Given the description of an element on the screen output the (x, y) to click on. 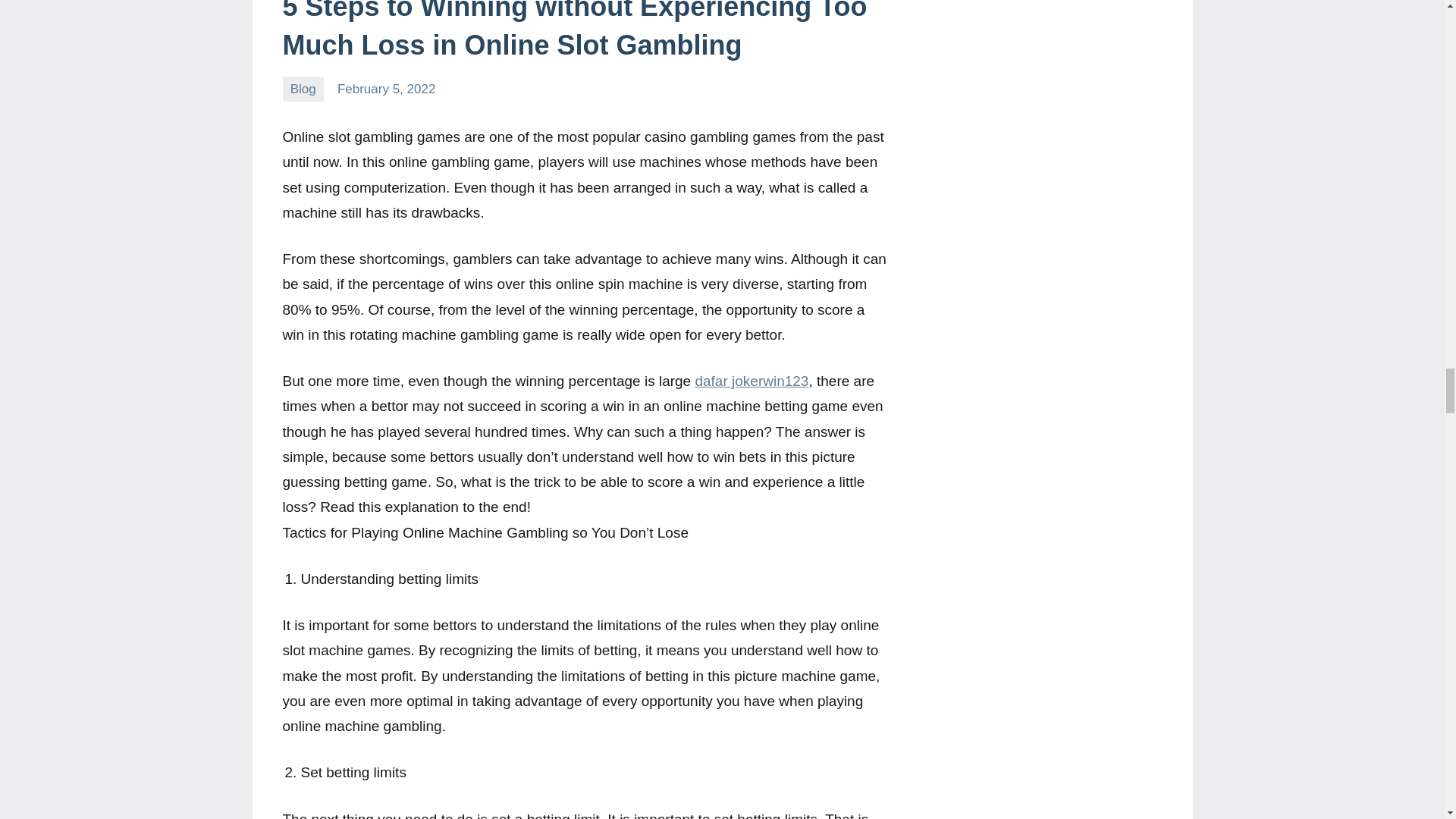
dafar jokerwin123 (751, 381)
February 5, 2022 (386, 88)
Blog (302, 88)
